Given the description of an element on the screen output the (x, y) to click on. 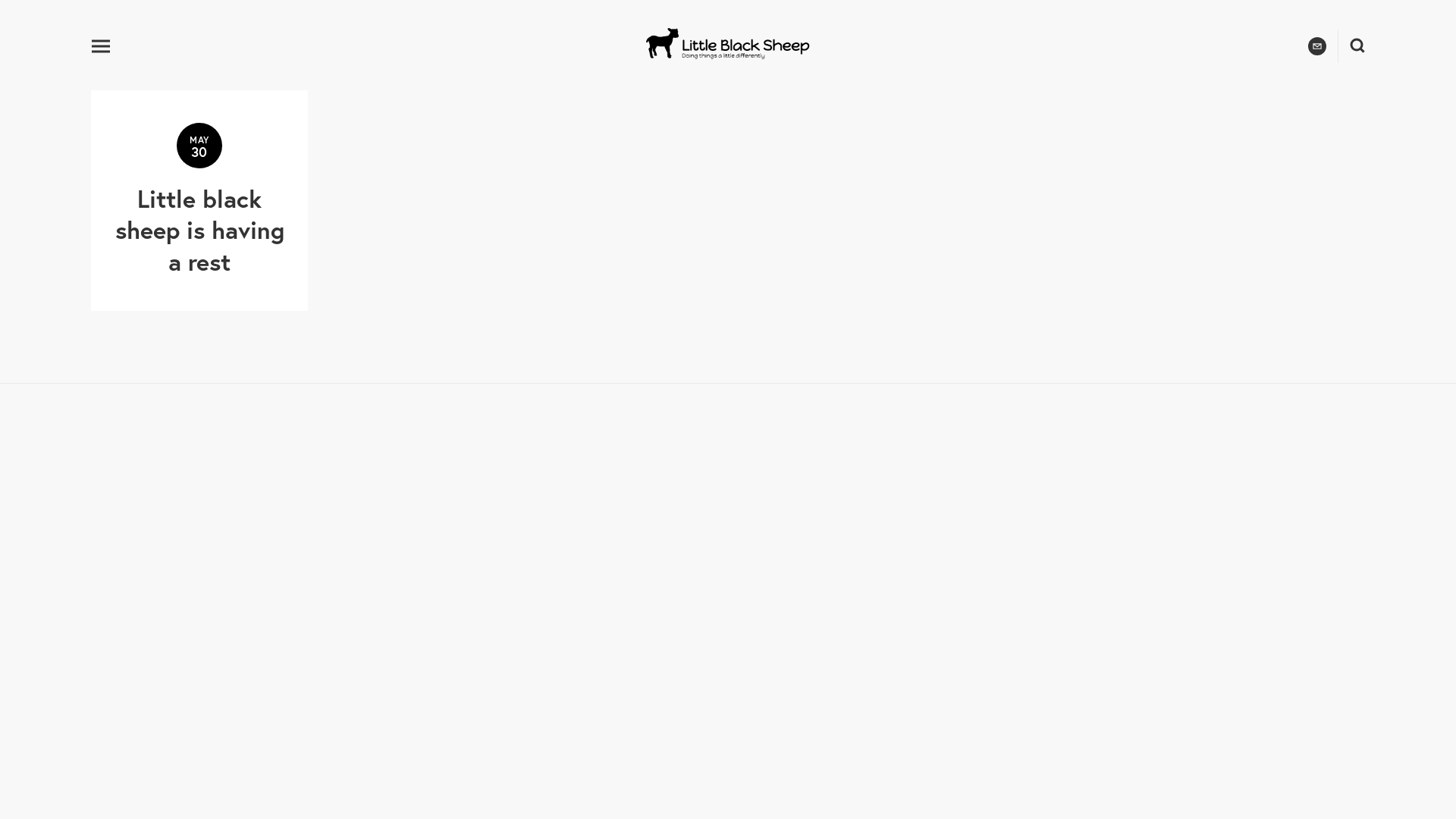
MAY
30
Little black sheep is having a rest Element type: text (199, 200)
